Given the description of an element on the screen output the (x, y) to click on. 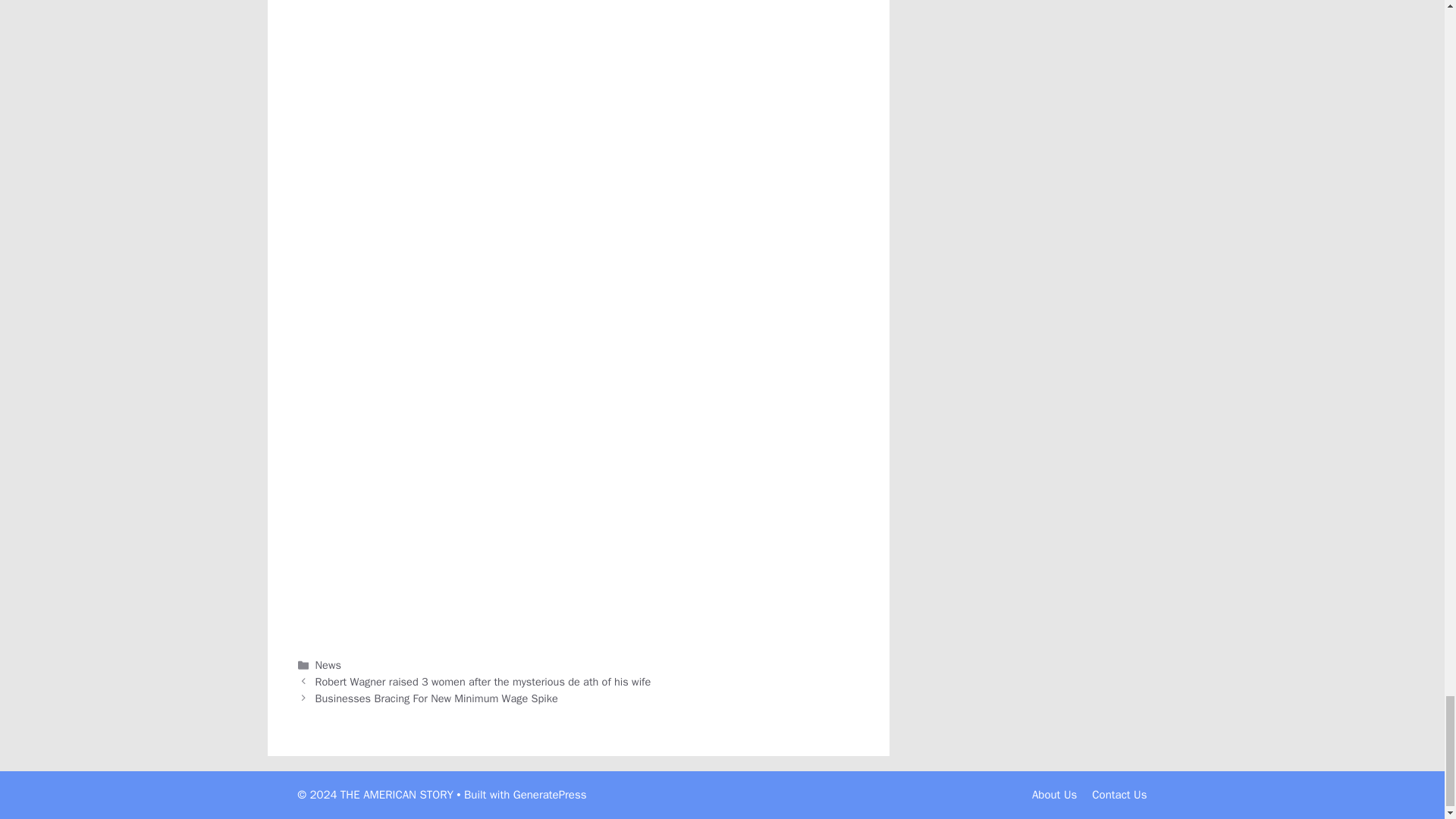
News (327, 664)
Businesses Bracing For New Minimum Wage Spike (436, 698)
